Given the description of an element on the screen output the (x, y) to click on. 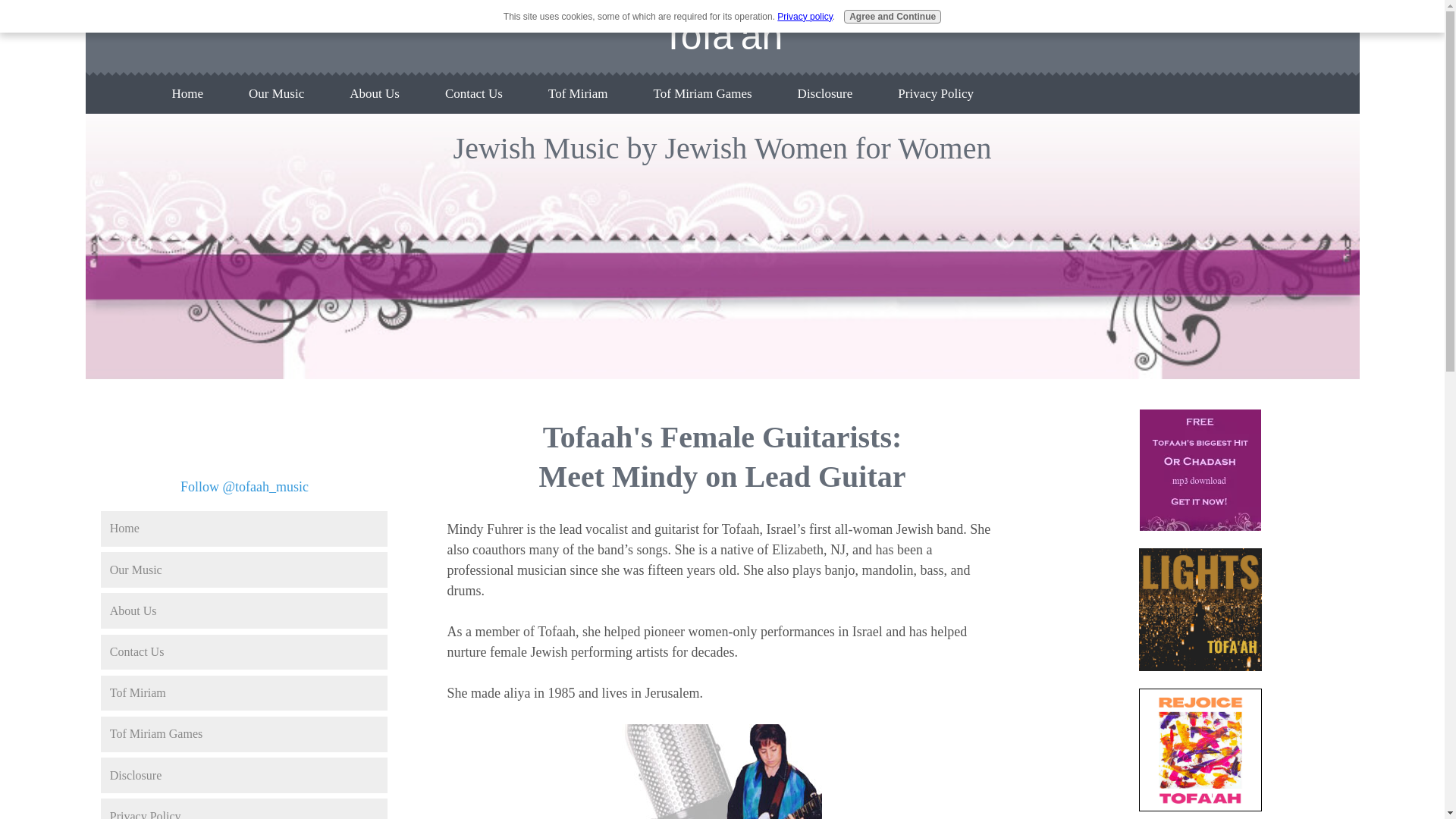
Our Music (275, 93)
Go to Tofaah Jewish Music News (1199, 525)
lights-thumb (1200, 608)
Privacy Policy (243, 808)
About Us (374, 93)
Privacy Policy (935, 93)
Disclosure (243, 775)
Home (186, 93)
Privacy policy (804, 16)
Tofa'ah (722, 36)
